Given the description of an element on the screen output the (x, y) to click on. 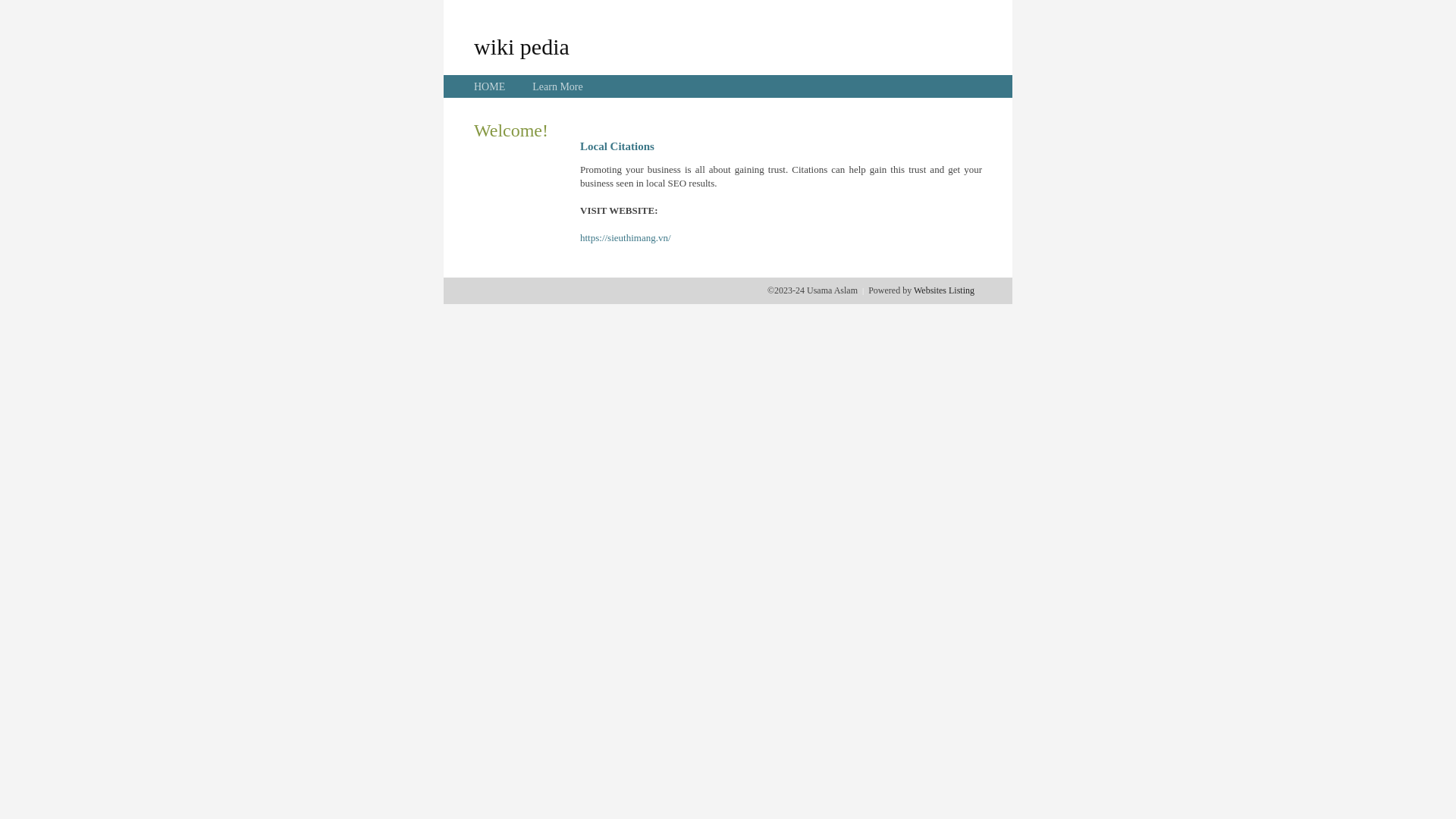
HOME Element type: text (489, 86)
Learn More Element type: text (557, 86)
https://sieuthimang.vn/ Element type: text (625, 237)
Websites Listing Element type: text (943, 290)
wiki pedia Element type: text (521, 46)
